Given the description of an element on the screen output the (x, y) to click on. 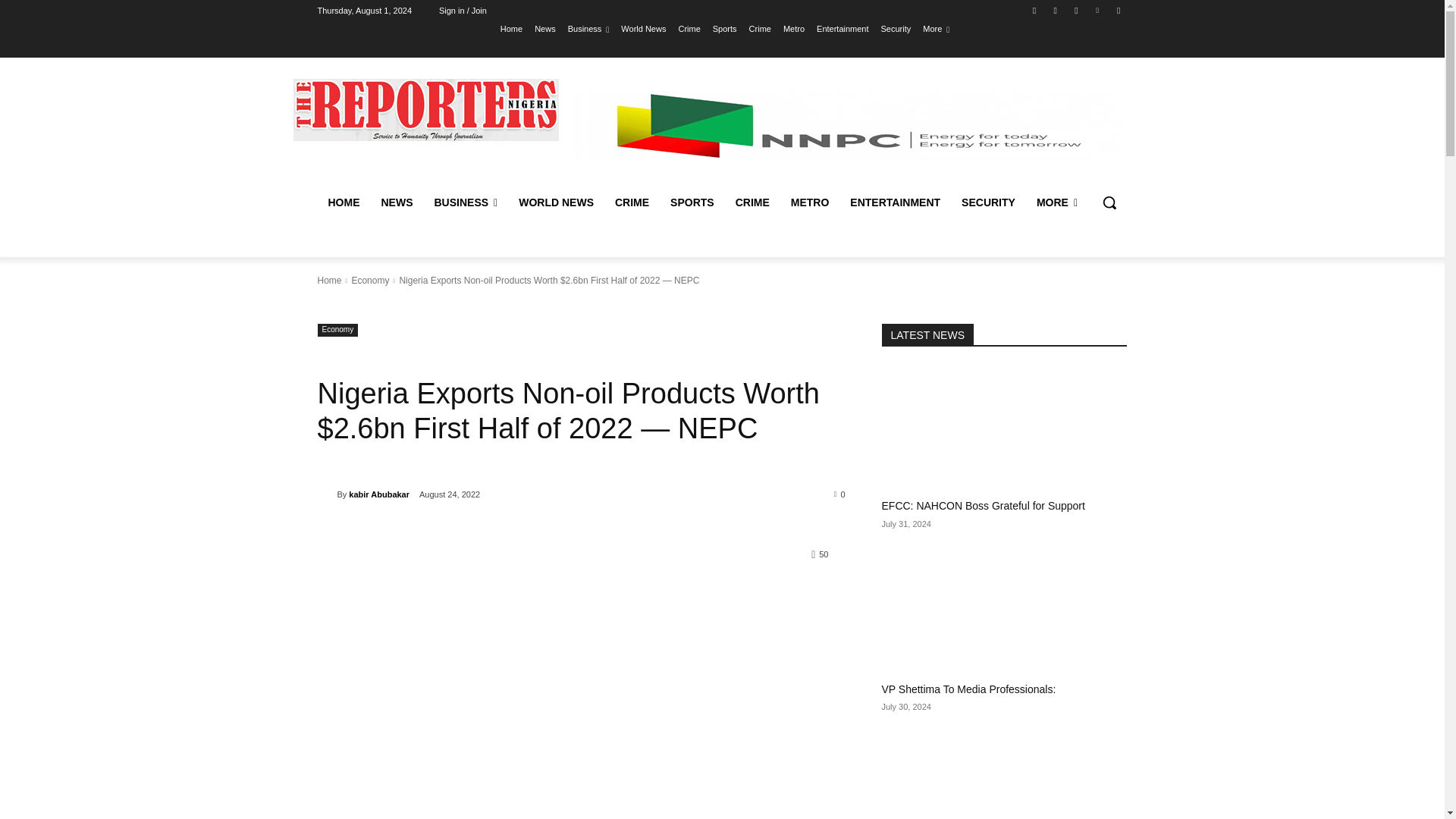
Twitter (1075, 9)
Facebook (1034, 9)
kabir Abubakar (326, 494)
View all posts in Economy (369, 280)
Instagram (1055, 9)
Home (511, 28)
Youtube (1117, 9)
World News (643, 28)
Business (588, 28)
Vimeo (1097, 9)
News (545, 28)
Sports (724, 28)
Crime (689, 28)
